Given the description of an element on the screen output the (x, y) to click on. 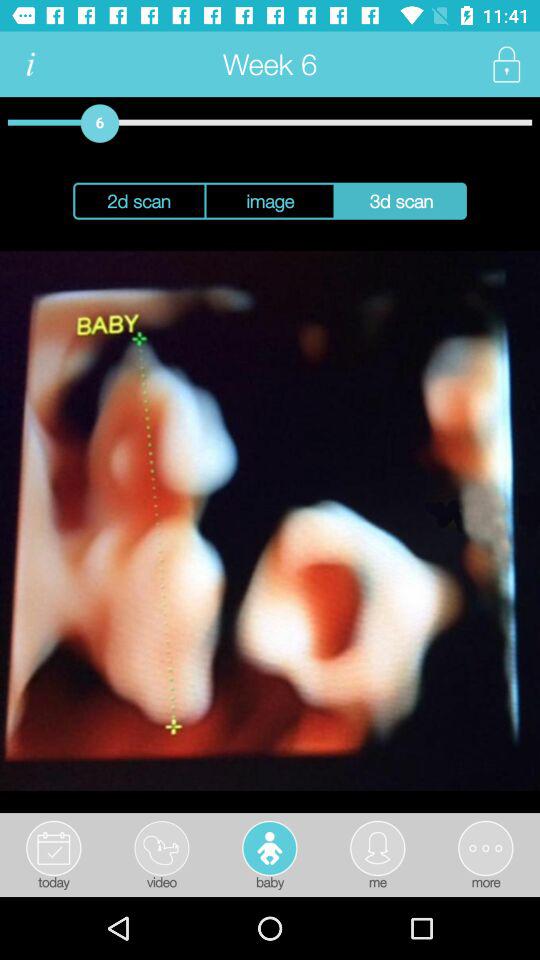
open 3d scan icon (400, 200)
